Given the description of an element on the screen output the (x, y) to click on. 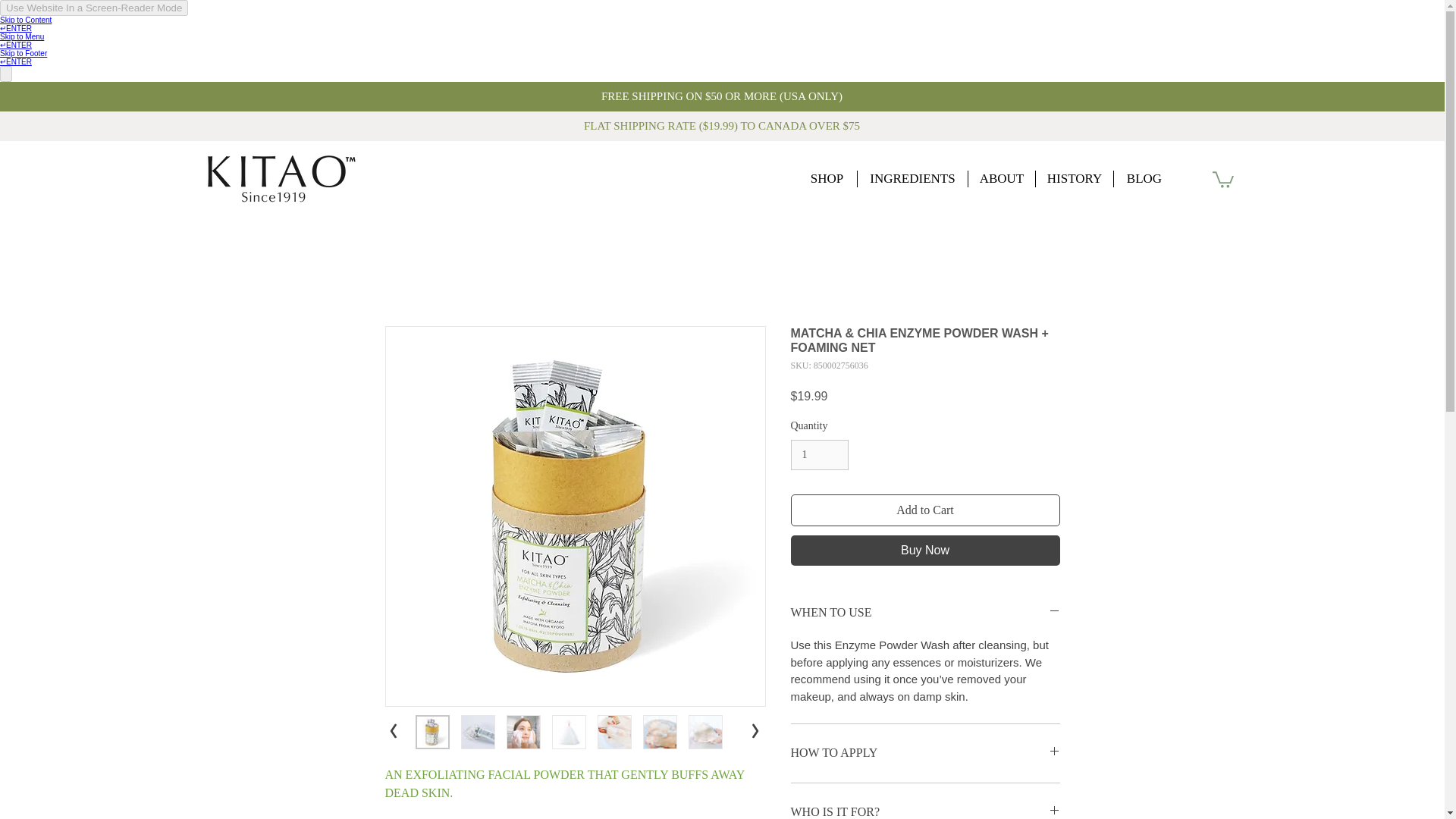
WHO IS IT FOR? (924, 810)
SHOP (826, 178)
INGREDIENTS (912, 178)
Add to Cart (924, 510)
ABOUT (1001, 178)
Buy Now (924, 550)
WHEN TO USE (924, 612)
1 (818, 454)
HOW TO APPLY (924, 753)
HISTORY (1074, 178)
BLOG (1143, 178)
